Given the description of an element on the screen output the (x, y) to click on. 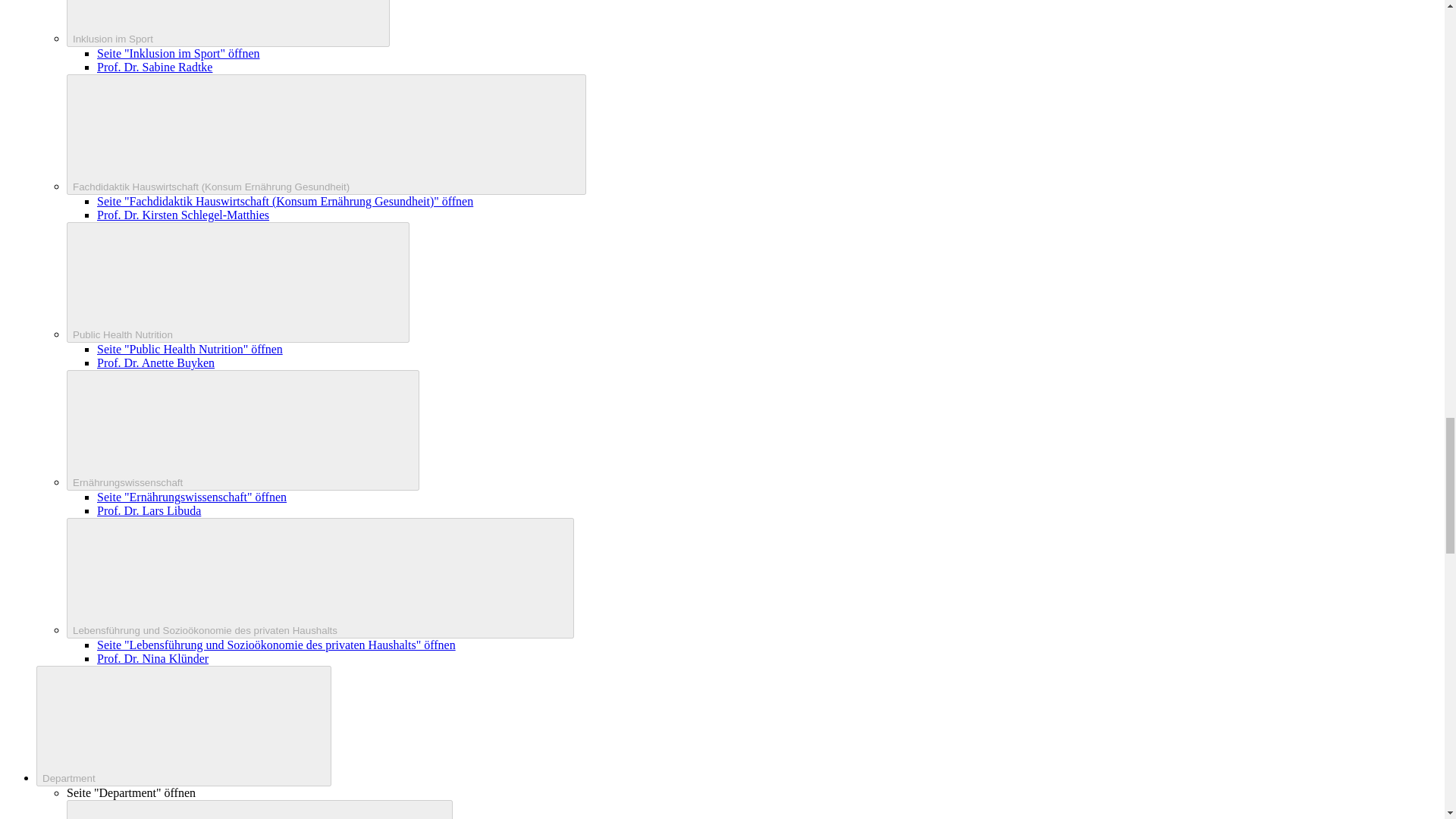
toggle submenu (237, 282)
toggle submenu (228, 23)
toggle submenu (326, 134)
toggle submenu (242, 430)
toggle submenu (183, 725)
toggle submenu (259, 809)
toggle submenu (319, 577)
